Given the description of an element on the screen output the (x, y) to click on. 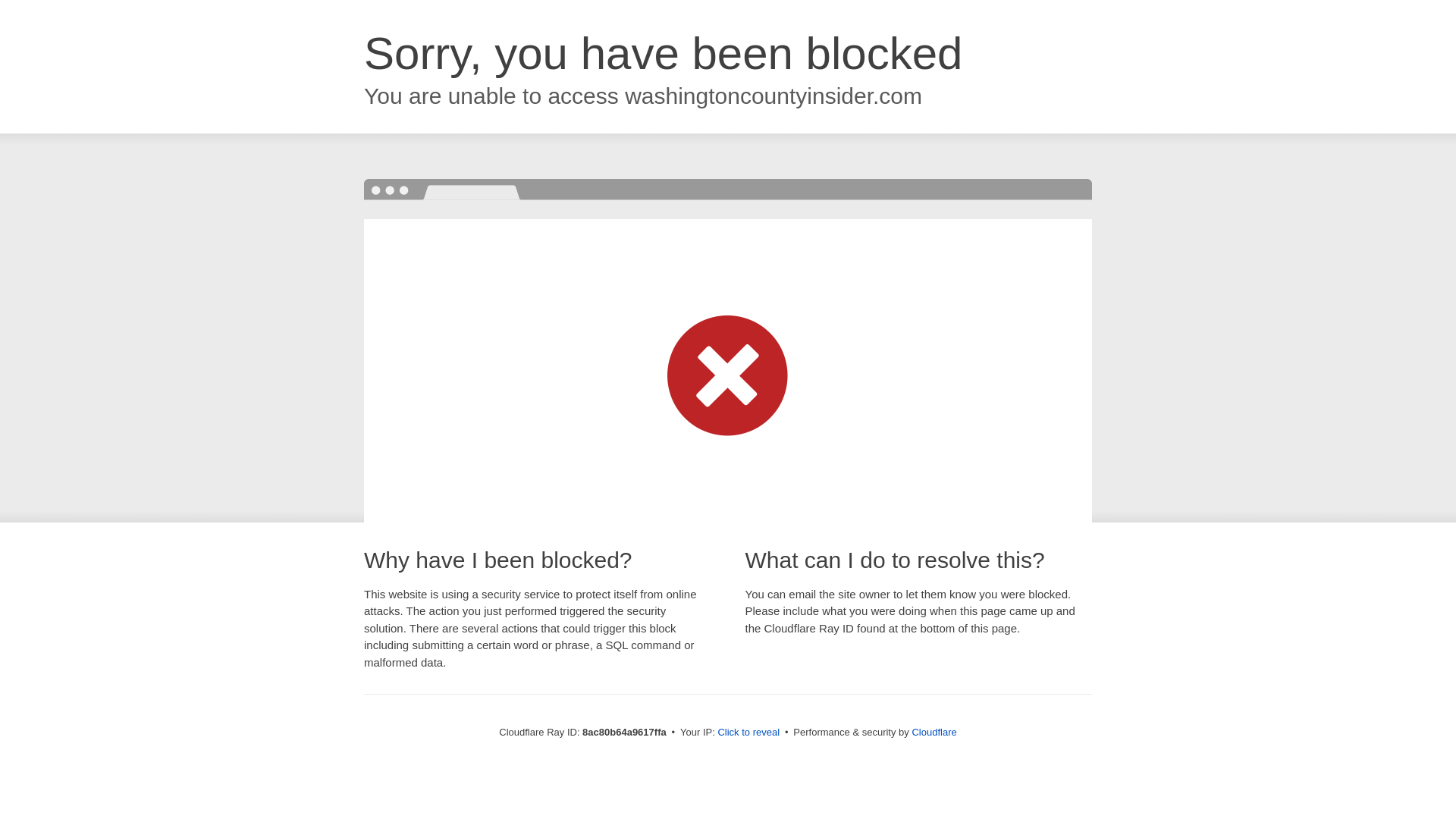
Click to reveal (747, 732)
Cloudflare (933, 731)
